Given the description of an element on the screen output the (x, y) to click on. 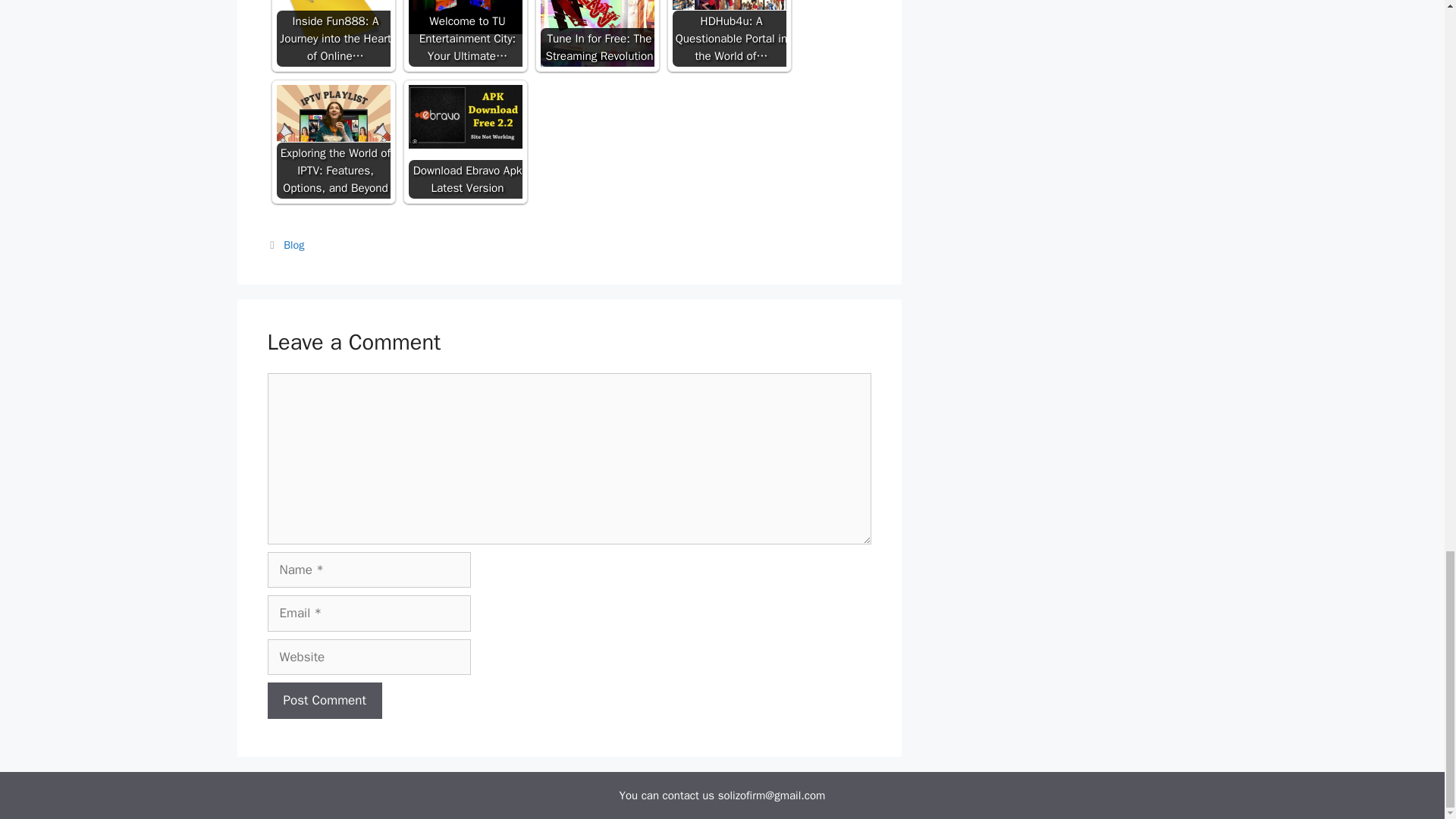
Tune In for Free: The Streaming Revolution (596, 33)
Download Ebravo Apk Latest Version (464, 116)
Exploring the World of IPTV: Features, Options, and Beyond (333, 113)
Post Comment (323, 700)
